Given the description of an element on the screen output the (x, y) to click on. 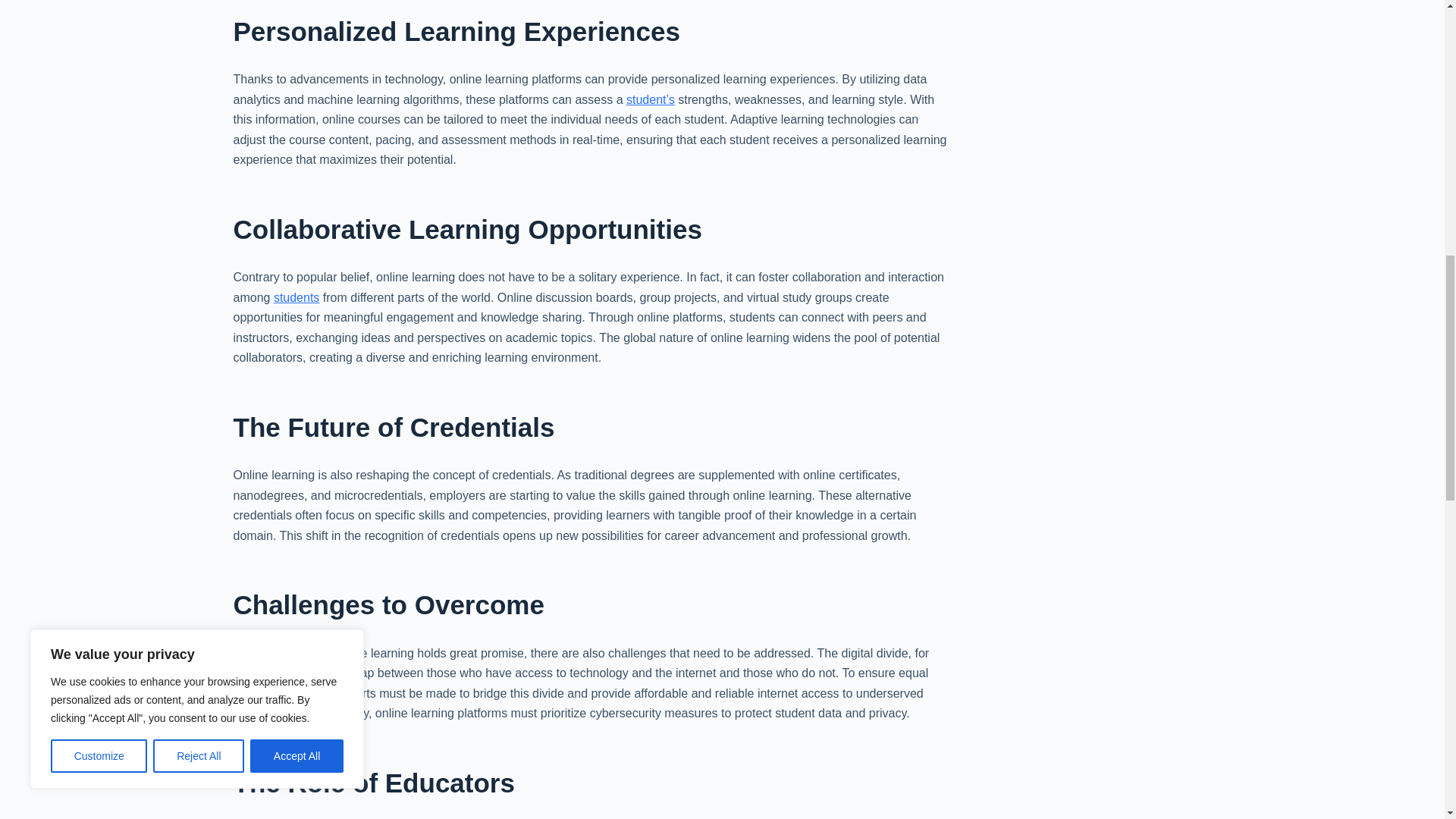
students (295, 297)
